Given the description of an element on the screen output the (x, y) to click on. 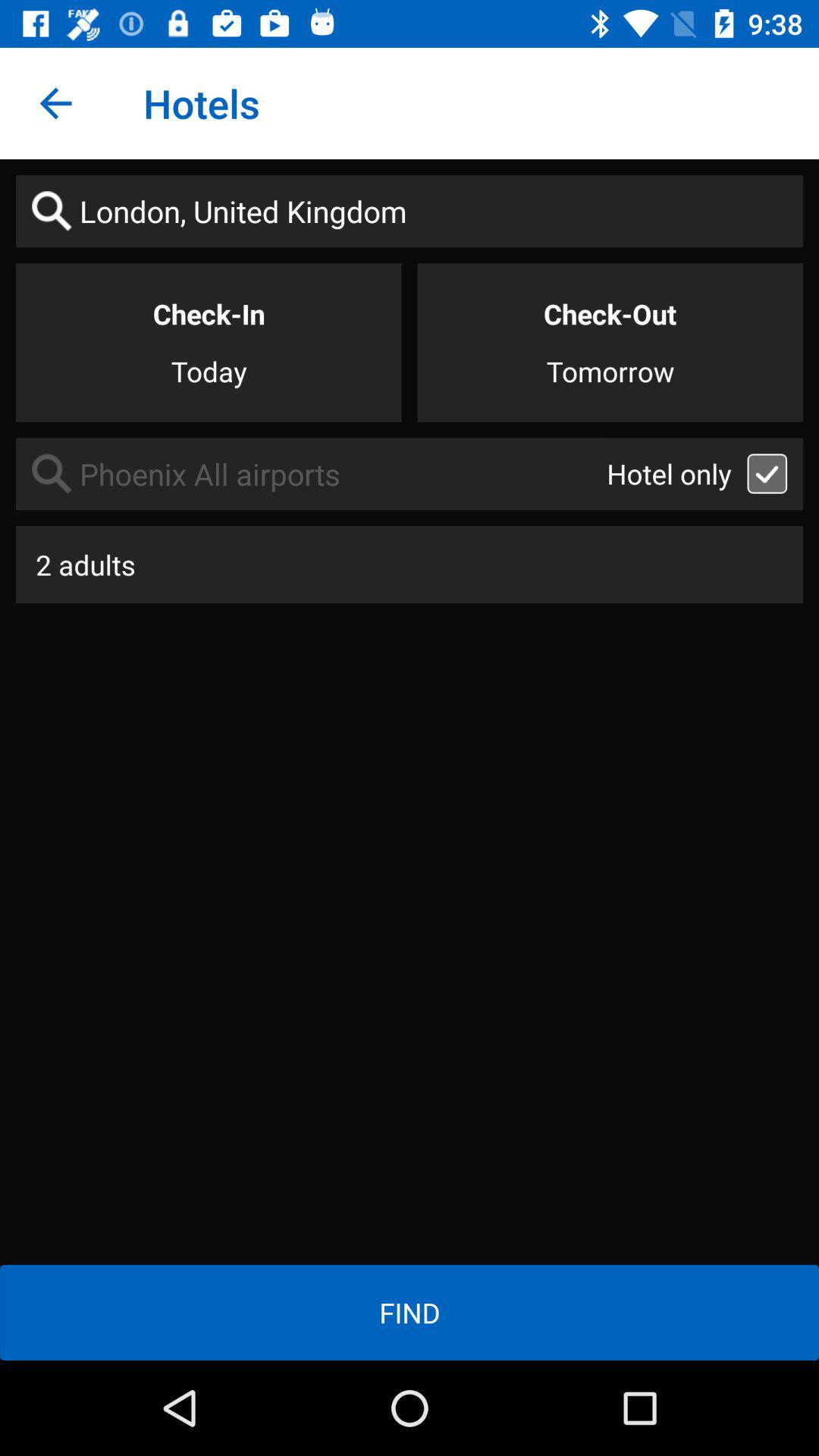
enable option (767, 473)
